Given the description of an element on the screen output the (x, y) to click on. 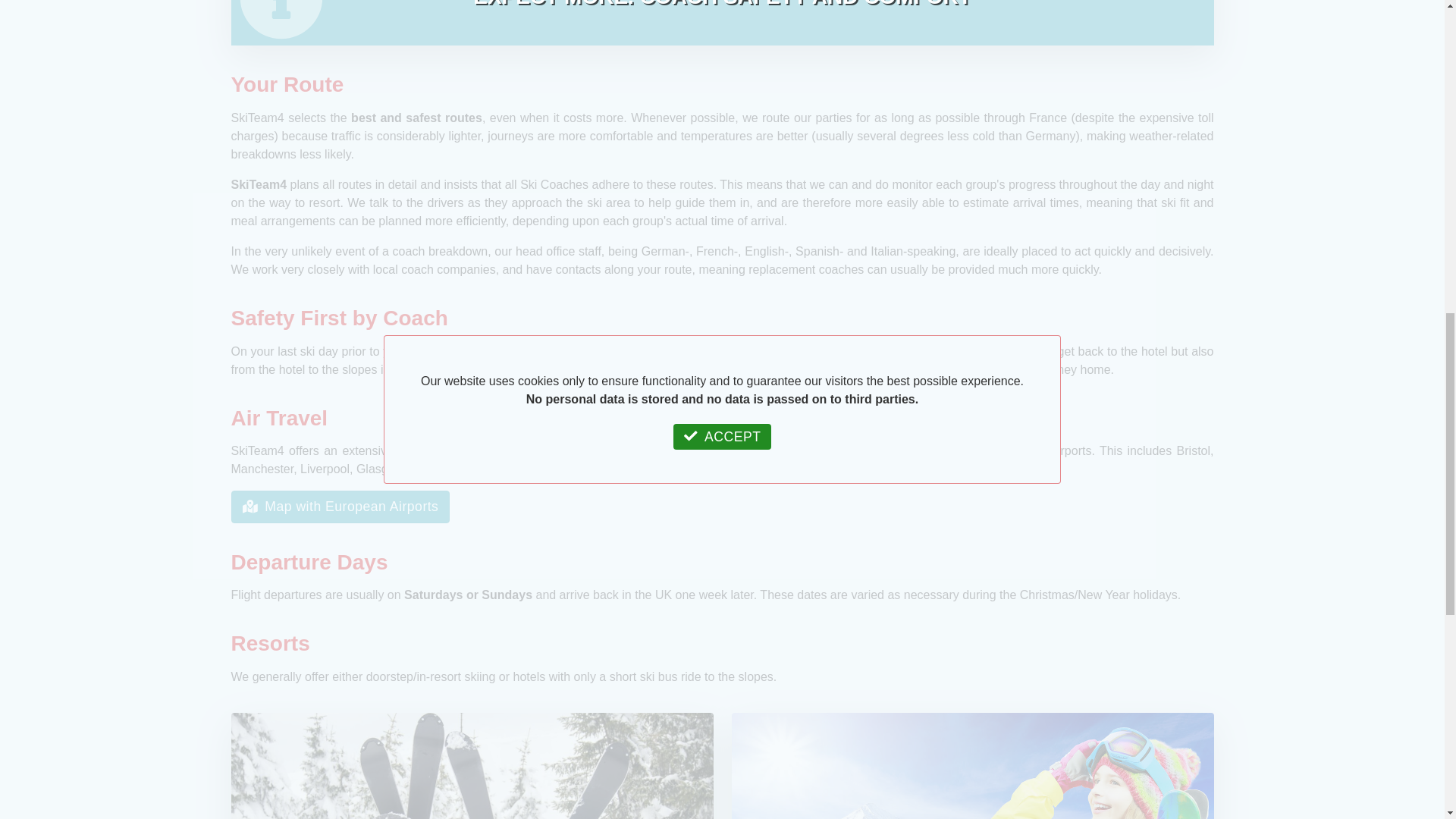
Open Skiteam4 Travel by Air Map (339, 506)
Map with European Airports (339, 506)
